Given the description of an element on the screen output the (x, y) to click on. 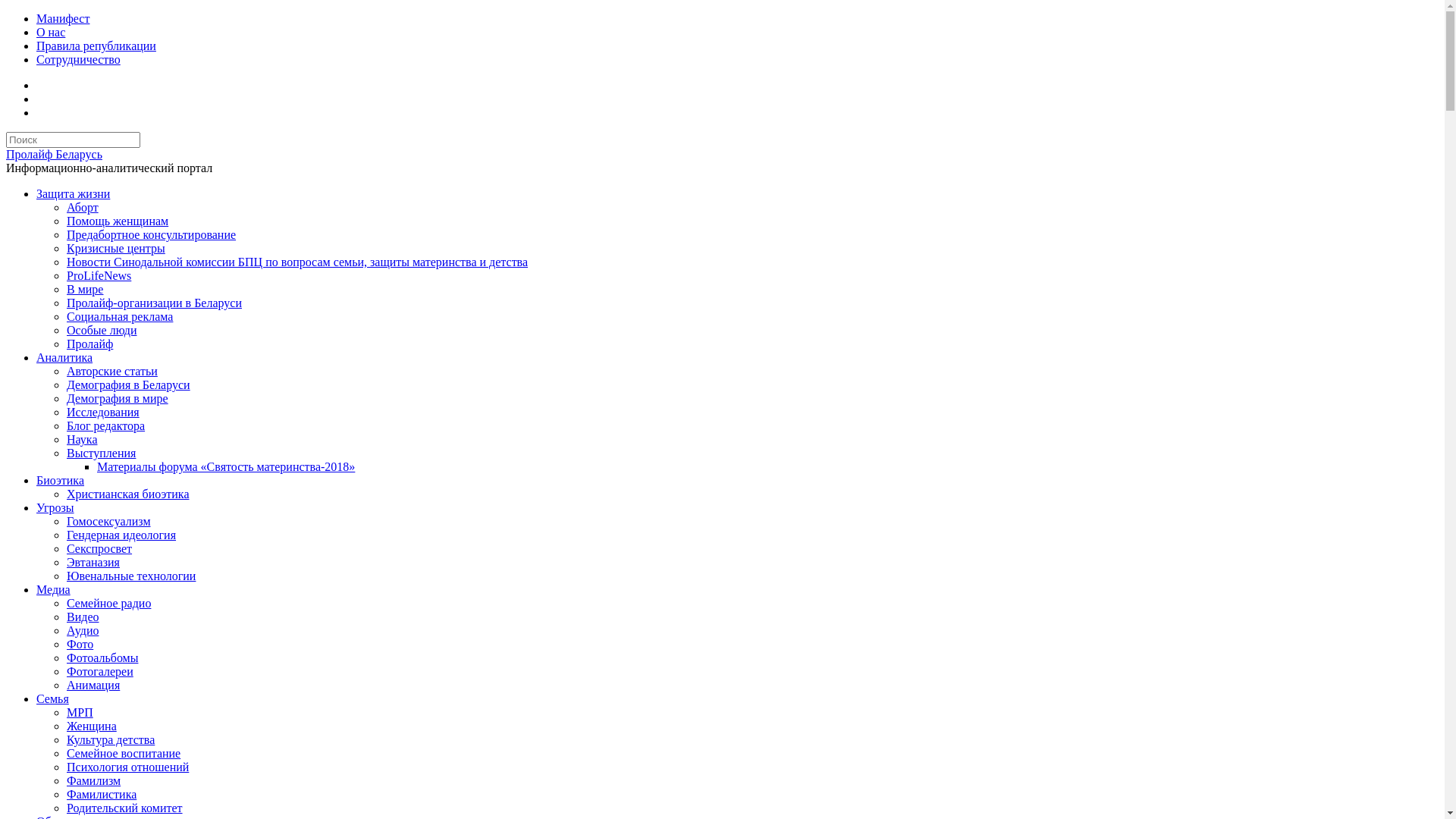
ProLifeNews Element type: text (98, 275)
